Given the description of an element on the screen output the (x, y) to click on. 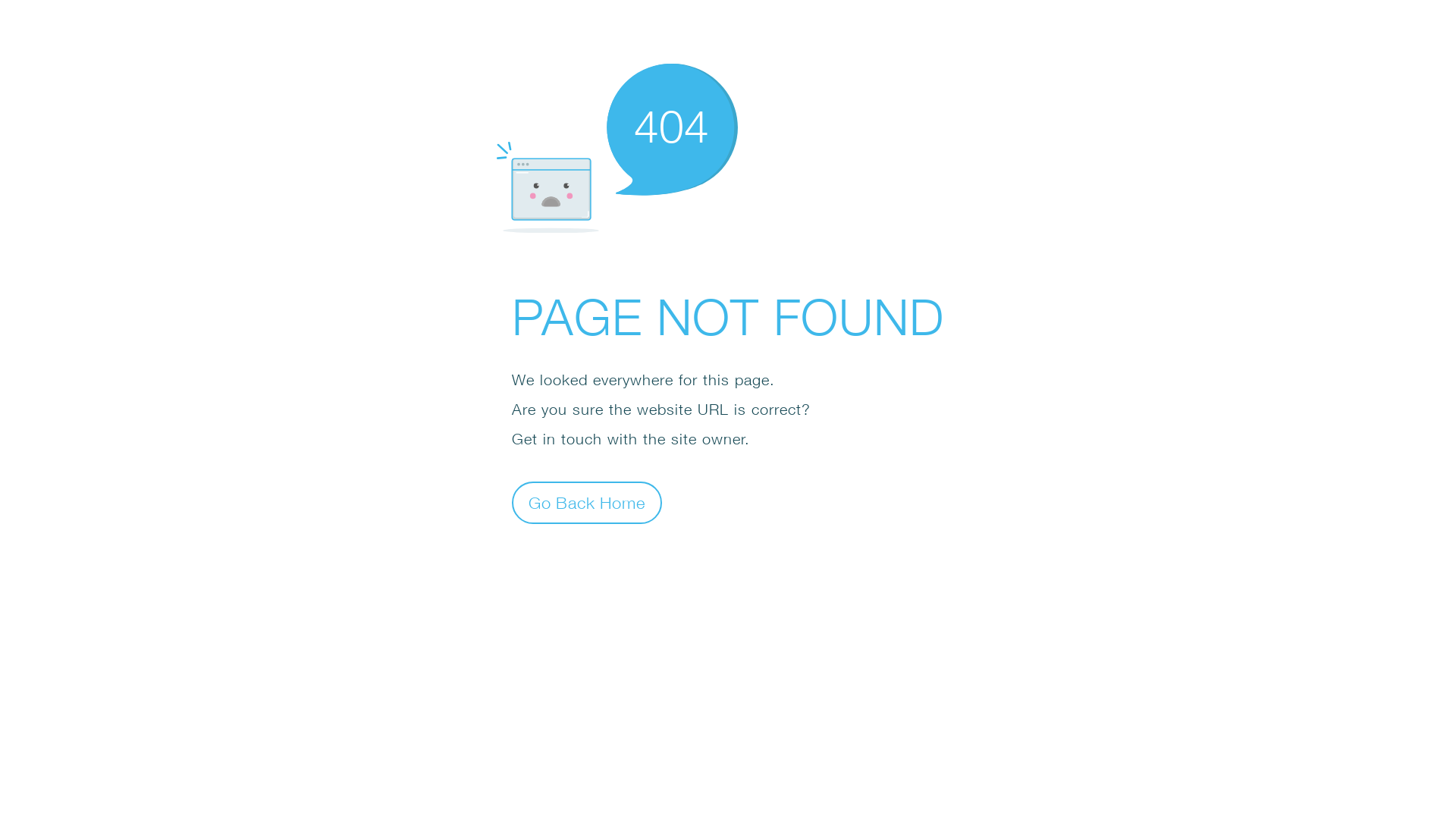
Go Back Home Element type: text (586, 502)
